Given the description of an element on the screen output the (x, y) to click on. 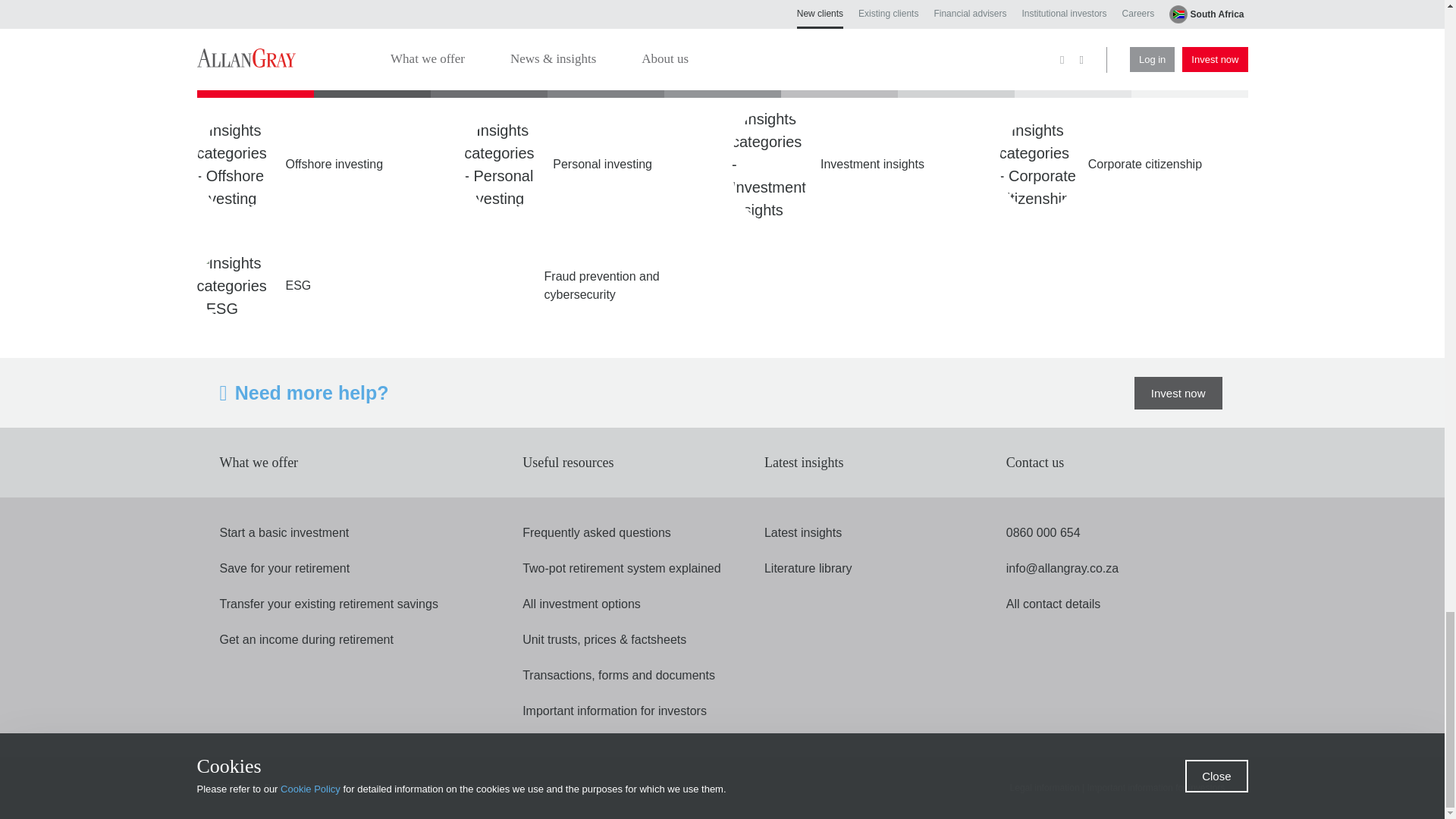
Two-pot retirement system explained (621, 568)
